Given the description of an element on the screen output the (x, y) to click on. 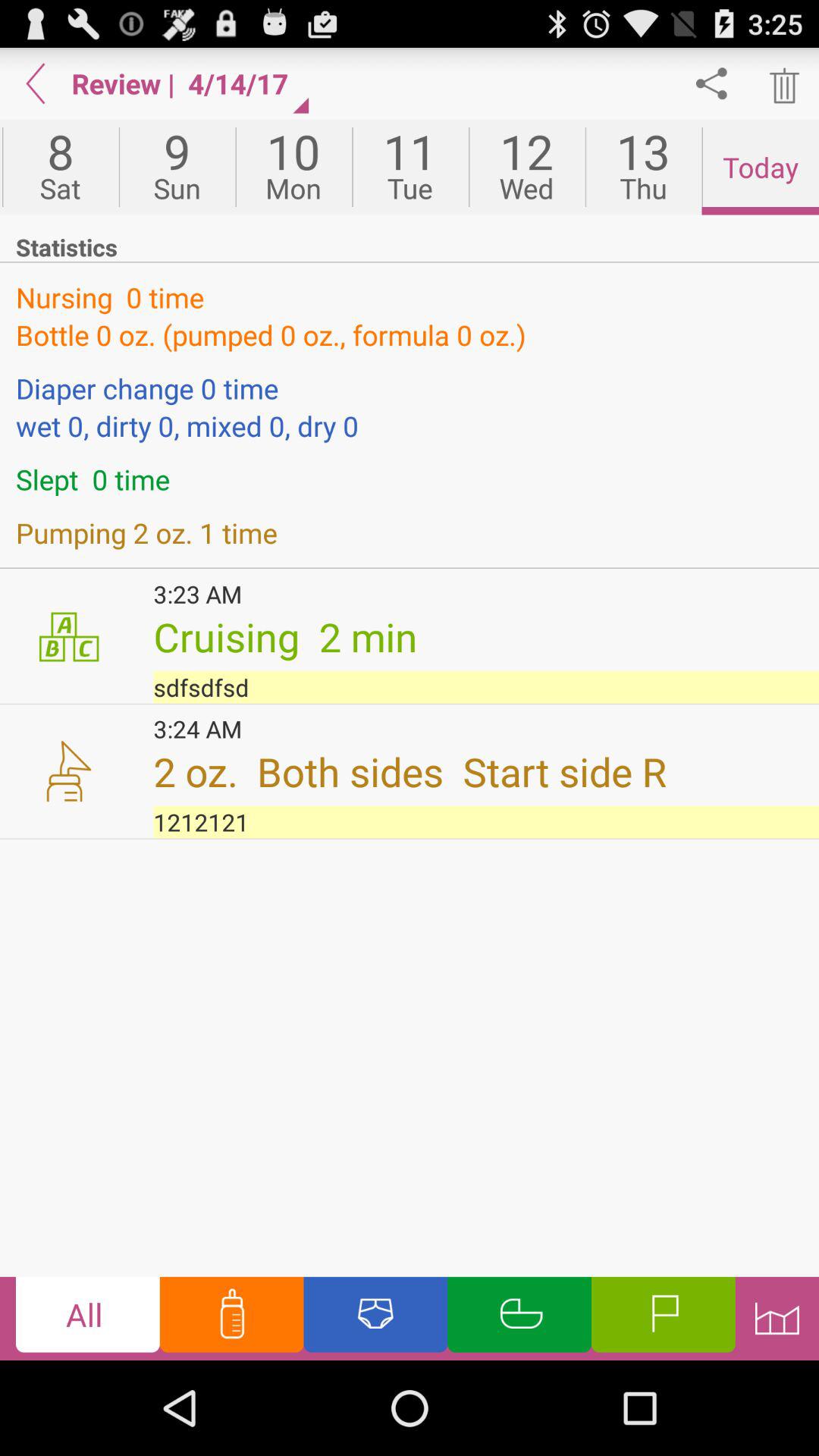
click the fri item (1, 166)
